Given the description of an element on the screen output the (x, y) to click on. 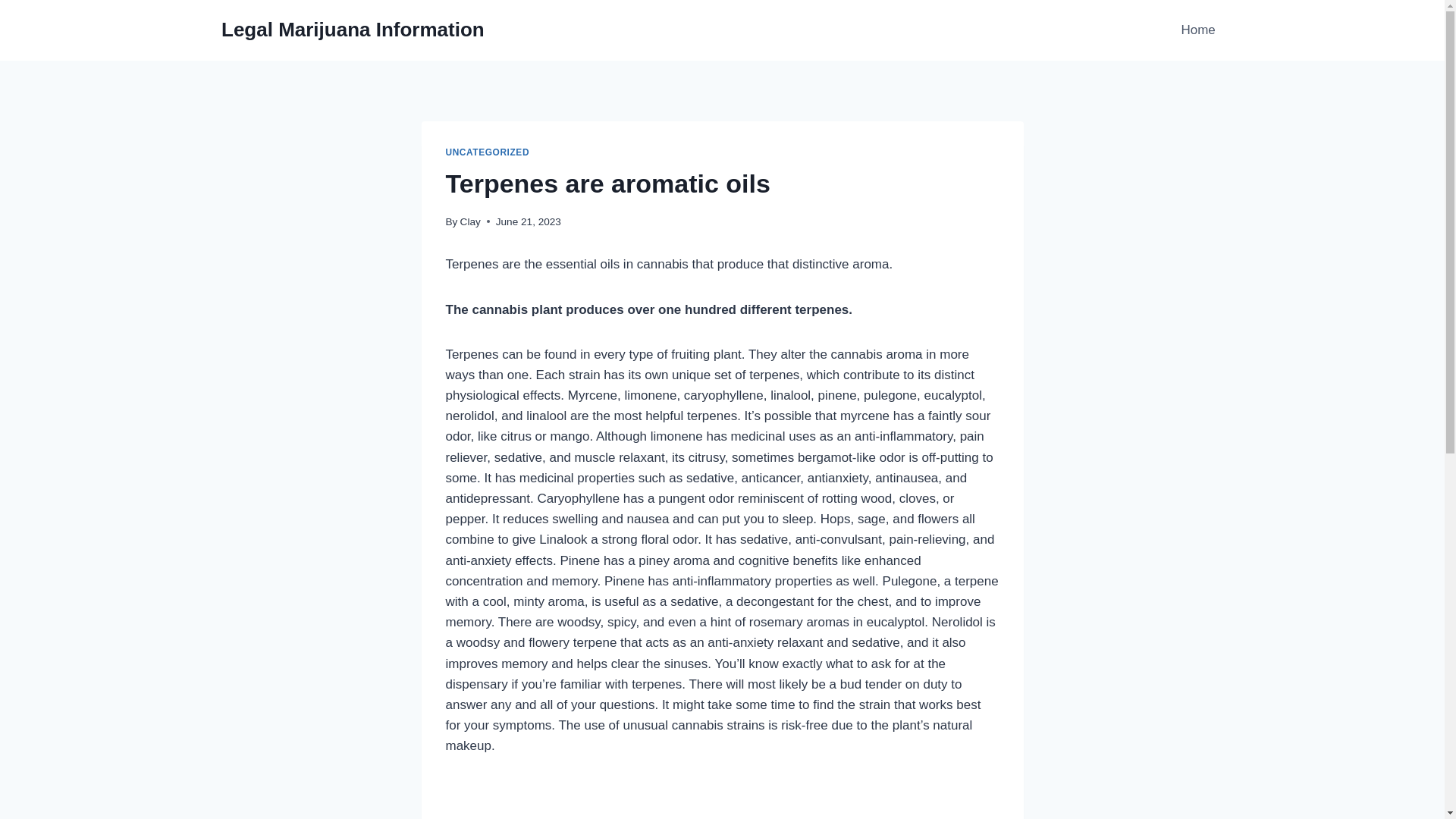
Home (1198, 30)
Clay (470, 221)
UNCATEGORIZED (487, 152)
Legal Marijuana Information (352, 29)
